Given the description of an element on the screen output the (x, y) to click on. 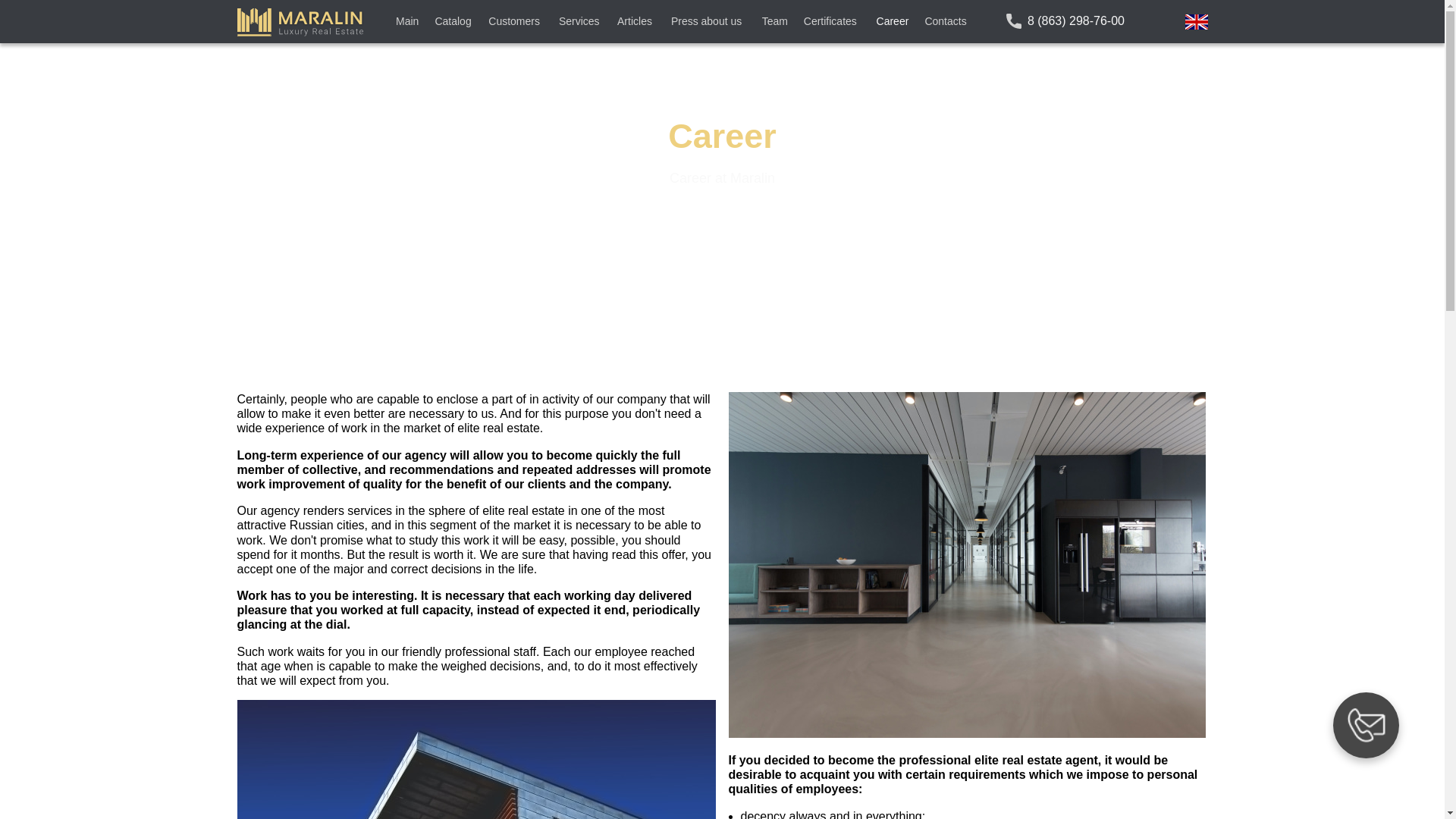
English (1196, 20)
Career (893, 22)
Contacts (946, 22)
Main (408, 22)
Team (775, 22)
Articles (636, 22)
Catalog (453, 22)
Catalog (453, 22)
Customers (515, 22)
Certificates (832, 22)
Certificates (832, 22)
Career (893, 22)
Press about us (708, 22)
Services (580, 22)
Team (775, 22)
